Given the description of an element on the screen output the (x, y) to click on. 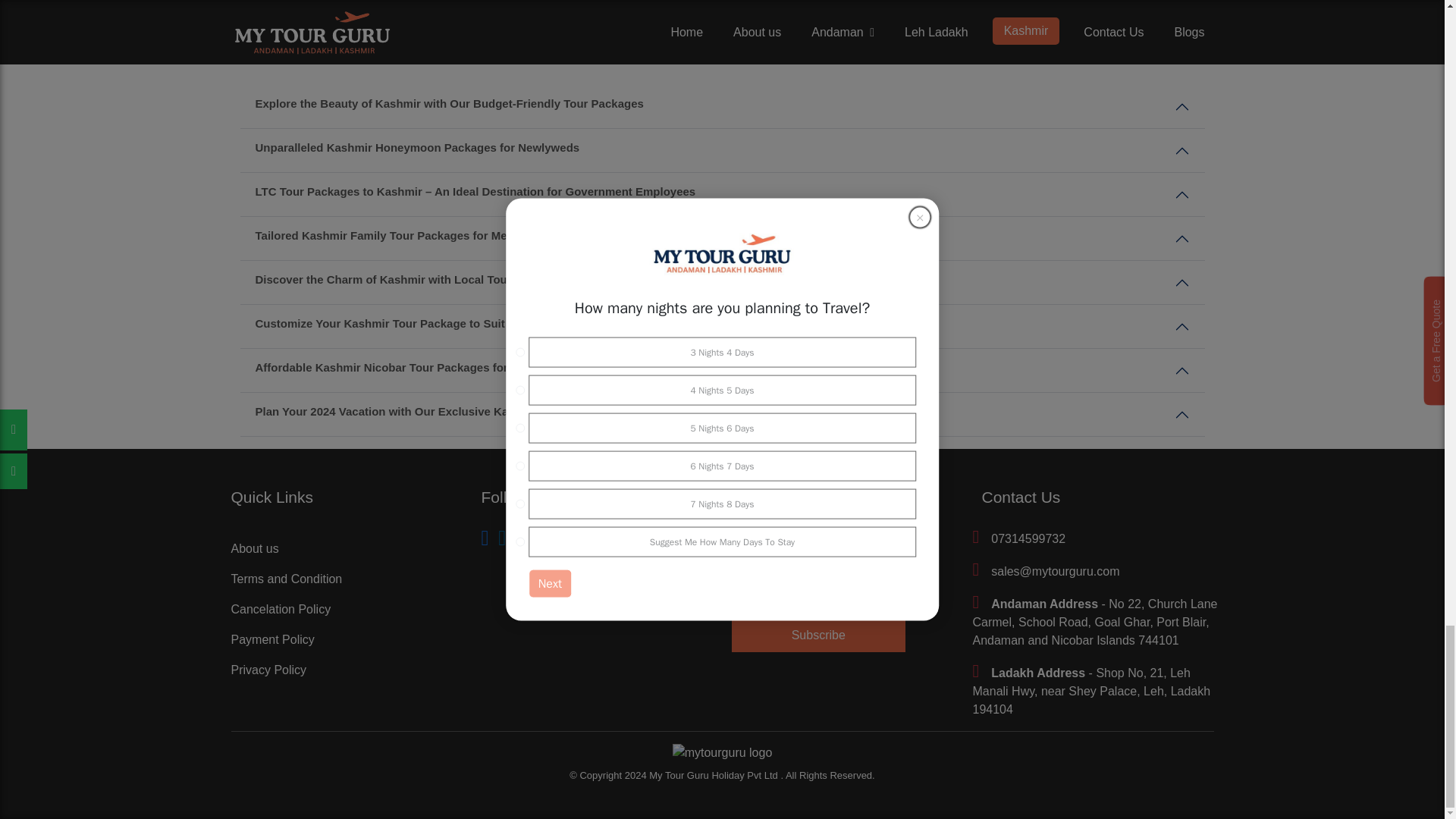
Subscribe (817, 635)
